Given the description of an element on the screen output the (x, y) to click on. 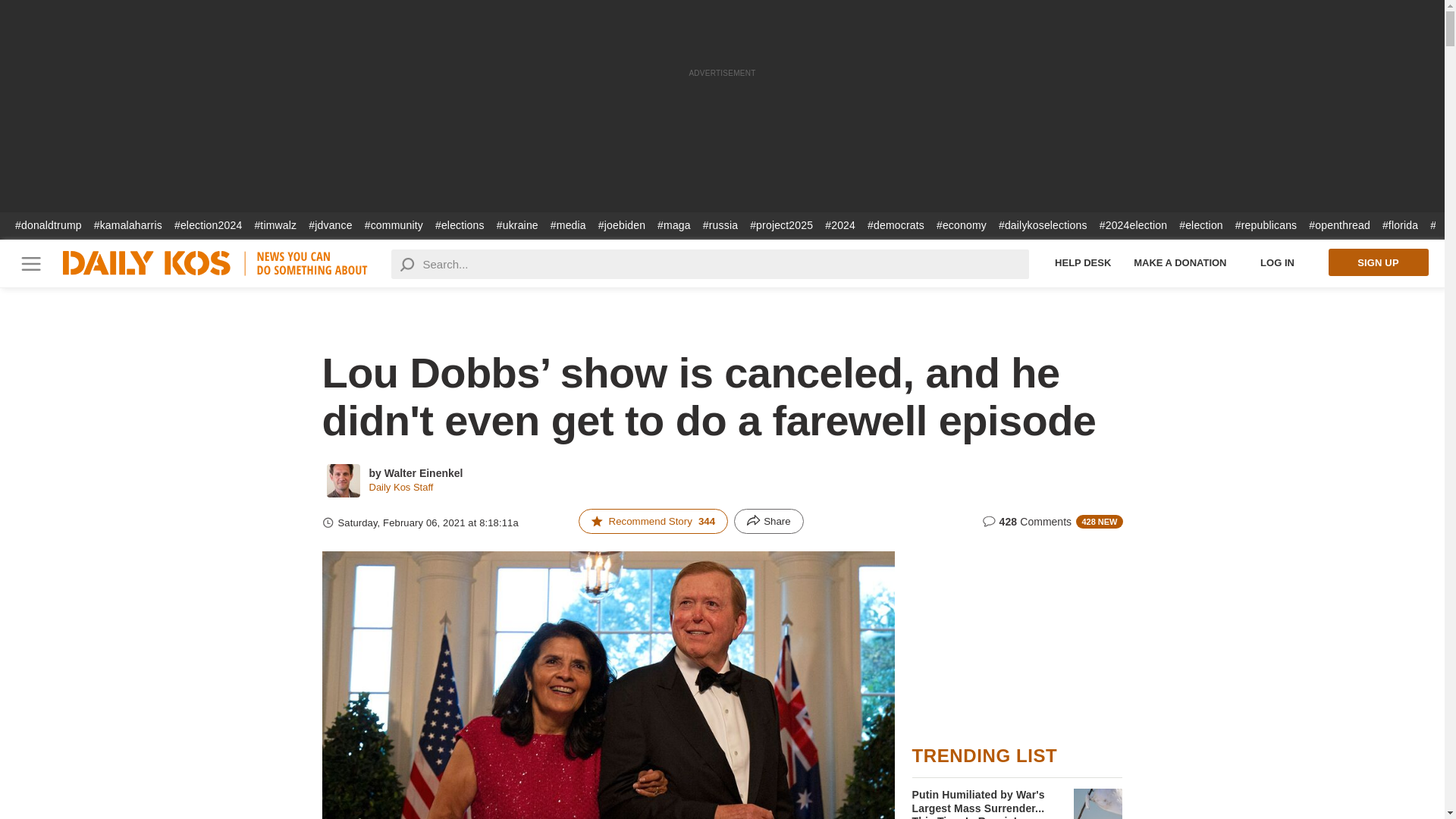
Help Desk (1082, 262)
Make a Donation (1179, 262)
MAKE A DONATION (1179, 262)
